Given the description of an element on the screen output the (x, y) to click on. 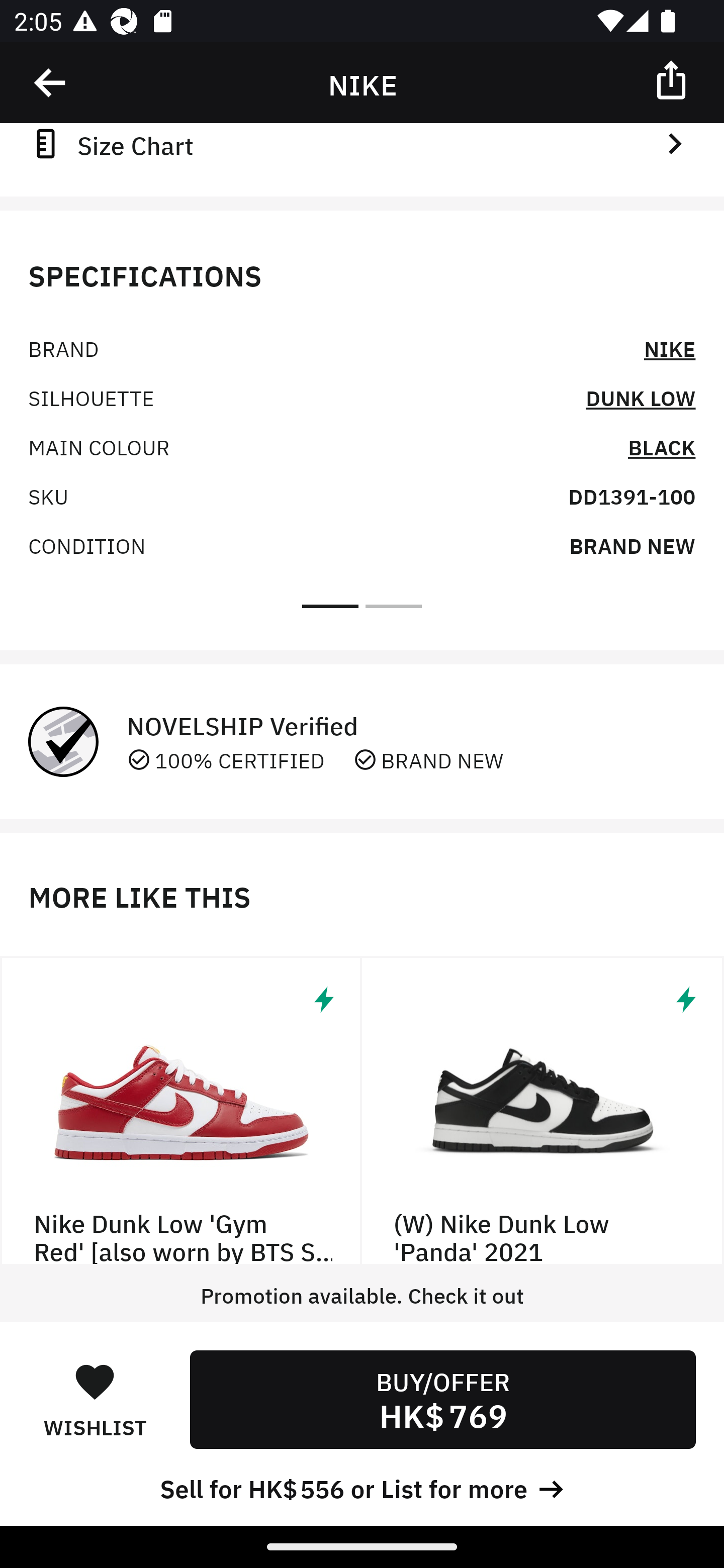
 (50, 83)
 (672, 79)
Size Chart  (361, 143)
NIKE (669, 347)
DUNK LOW (640, 396)
BLACK (661, 446)
DD1391-100 (631, 495)
BRAND NEW (632, 544)
 Nike Dunk Low 'Gym Red' [also worn by BTS Suga] (181, 1110)
 (W) Nike Dunk Low 'Panda' 2021 (543, 1110)
BUY/OFFER HK$ 769 (442, 1399)
󰋑 (94, 1380)
Sell for HK$ 556 or List for more (361, 1486)
